Given the description of an element on the screen output the (x, y) to click on. 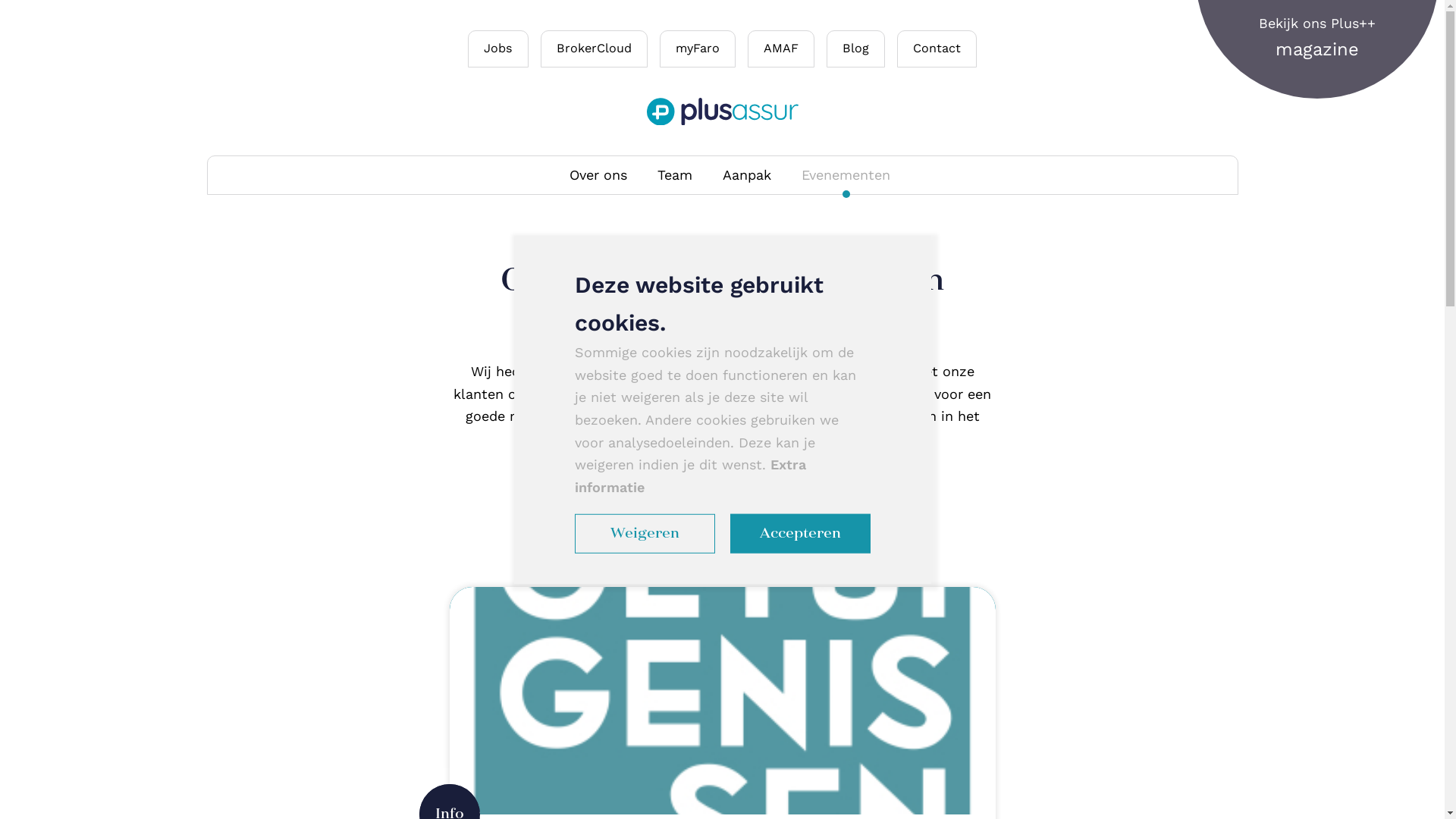
AMAF Element type: text (780, 48)
Over ons Element type: text (598, 174)
Aanpak Element type: text (746, 174)
Accepteren Element type: text (799, 533)
BrokerCloud Element type: text (593, 48)
Contact Element type: text (96, 377)
Evenementen Element type: text (845, 174)
Contact Element type: text (936, 48)
Blog Element type: text (855, 48)
Extra informatie Element type: text (690, 475)
Blog Element type: text (80, 293)
Over ons Element type: text (100, 127)
Sluit menu Element type: text (1364, 38)
Brokercloud Element type: text (116, 418)
Evenementen Element type: text (122, 252)
Bekijk ons Plus++
magazine Element type: text (1316, 38)
Aanpak Element type: text (94, 210)
Home Element type: text (87, 85)
myFaro Element type: text (697, 48)
Weigeren Element type: text (644, 533)
Team Element type: text (674, 174)
AMAF Element type: text (86, 502)
Team Element type: text (84, 168)
myFaro Element type: text (94, 460)
Jobs Element type: text (82, 335)
Jobs Element type: text (497, 48)
